Given the description of an element on the screen output the (x, y) to click on. 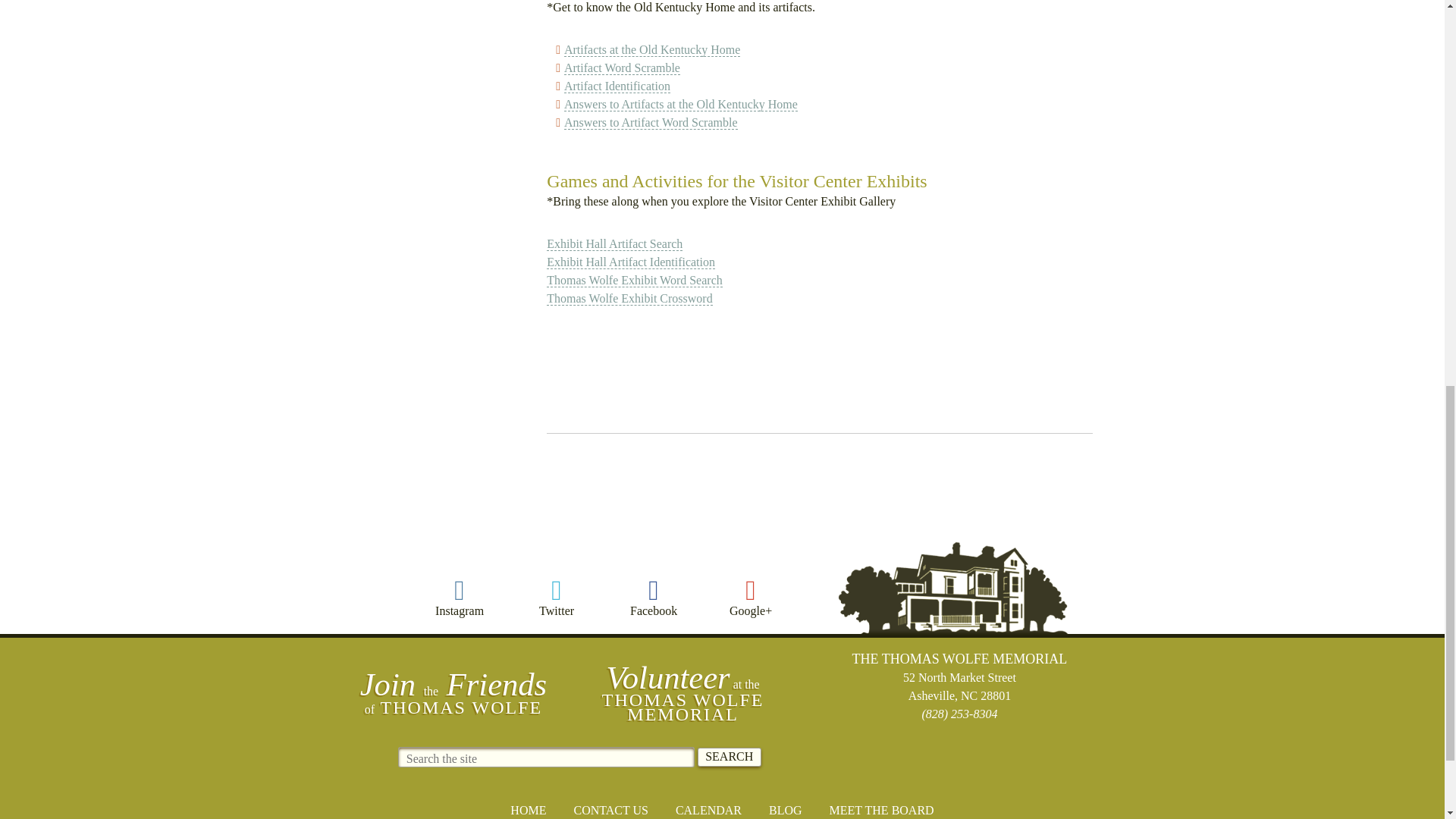
Thomas Wolfe Exhibit Word Search (634, 280)
Check out the Thomas Wolfe Memorial on Facebook (653, 598)
Answers to Artifact Word Scramble (651, 122)
Exhibit Hall Artifact Identification (630, 262)
SEARCH (729, 757)
Check out the Thomas Wolfe Memorial on Twitter (556, 598)
Exhibit Hall Artifact Search (614, 243)
Answers to Artifacts at the Old Kentucky Home (680, 104)
Thomas Wolfe Exhibit Crossword (629, 298)
Check out the Thomas Wolfe Memorial on Instagram (459, 598)
Find Out How to Become a Friend of the Thomas Wolfe Memorial (453, 692)
Artifact Word Scramble (621, 68)
Artifacts at the Old Kentucky Home (651, 49)
Artifact Identification (616, 86)
